Given the description of an element on the screen output the (x, y) to click on. 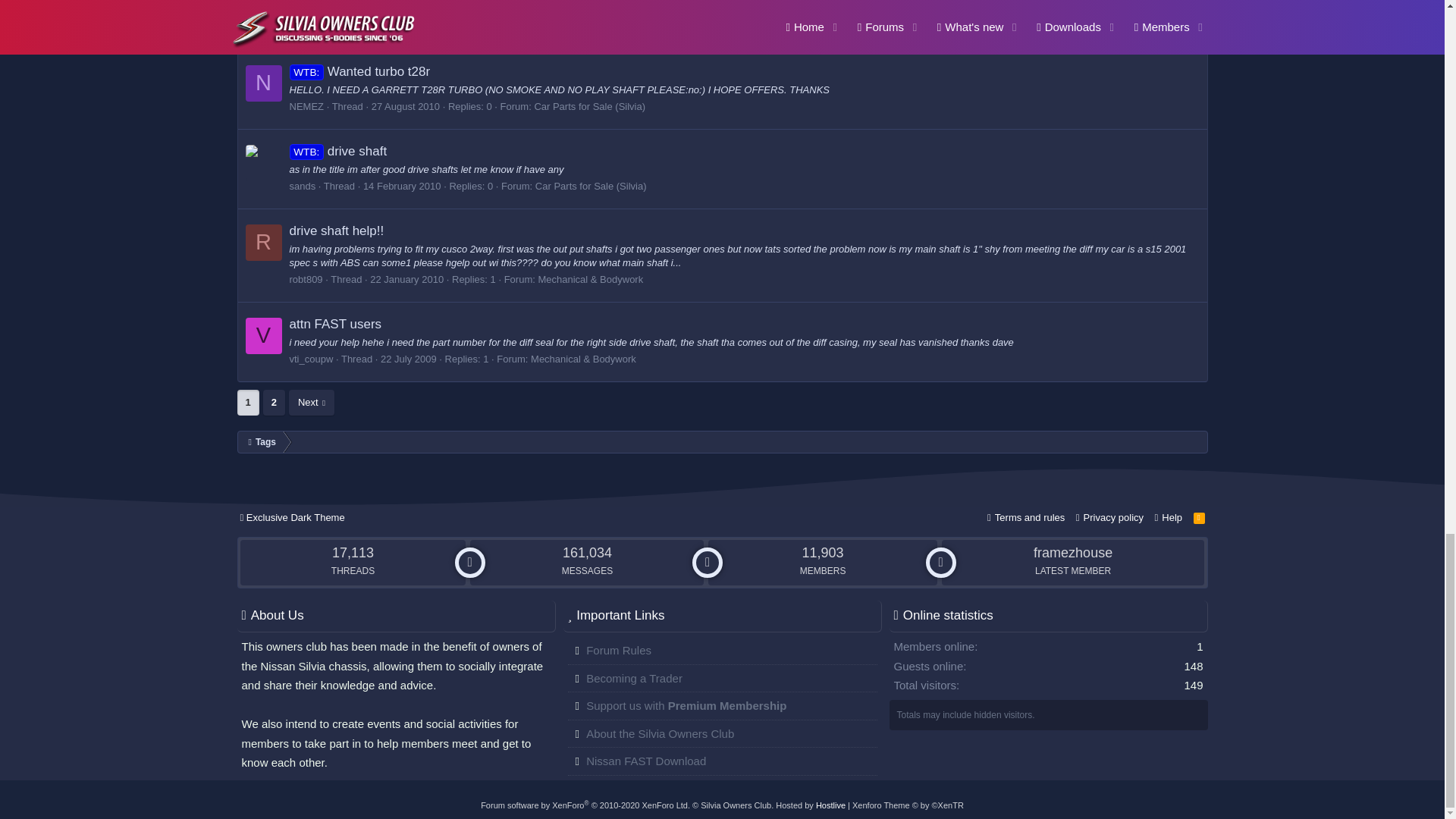
9 September 2010 at 12:56 PM (427, 26)
